Given the description of an element on the screen output the (x, y) to click on. 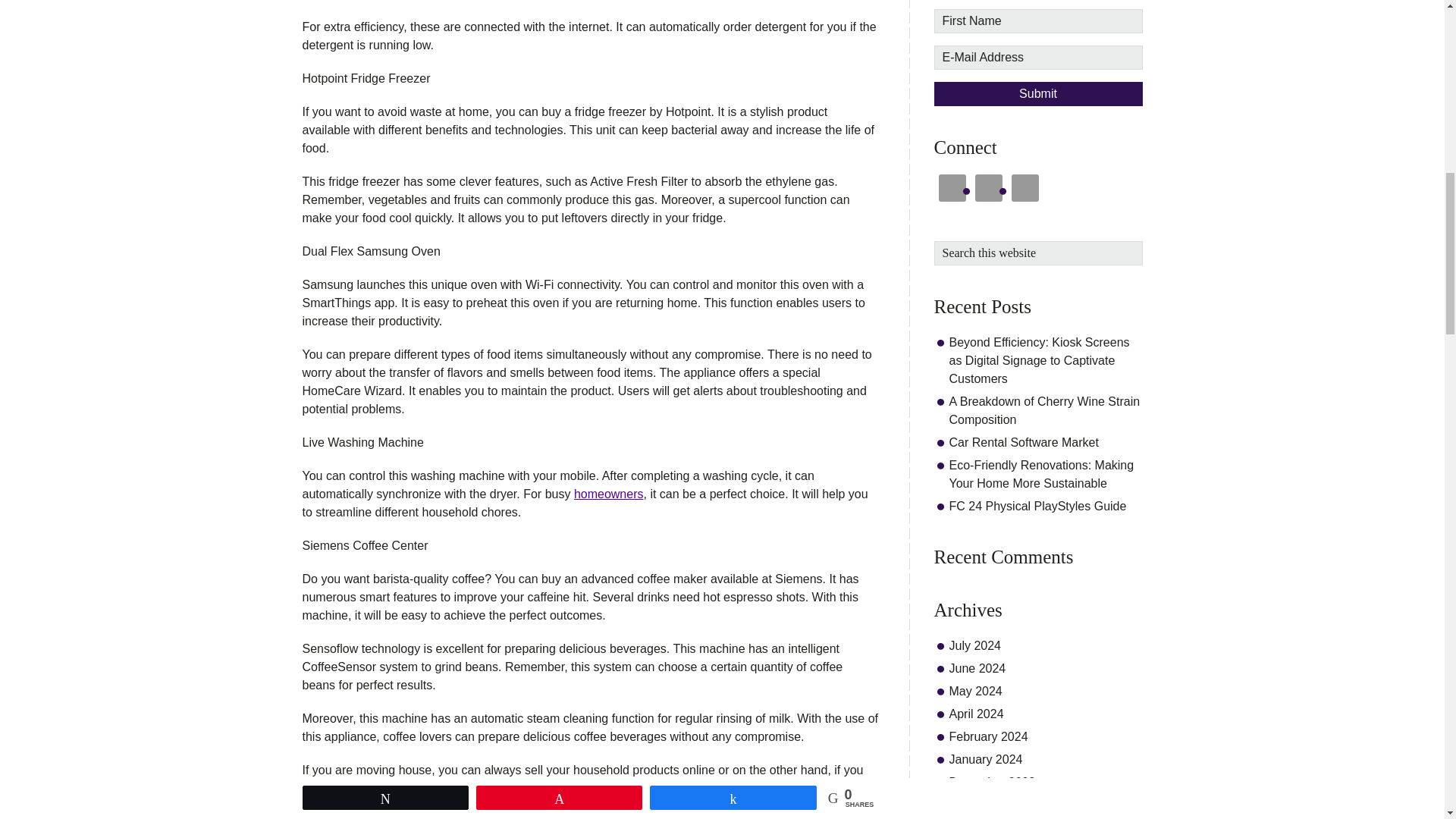
Submit (1038, 93)
A Breakdown of Cherry Wine Strain Composition (1044, 409)
May 2024 (976, 689)
Submit (1038, 93)
June 2024 (977, 667)
Car Rental Software Market (1024, 440)
homeowners (608, 493)
July 2024 (975, 644)
cheap shipping on household appliances (574, 797)
FC 24 Physical PlayStyles Guide (1037, 504)
Eco-Friendly Renovations: Making Your Home More Sustainable (1041, 472)
